Given the description of an element on the screen output the (x, y) to click on. 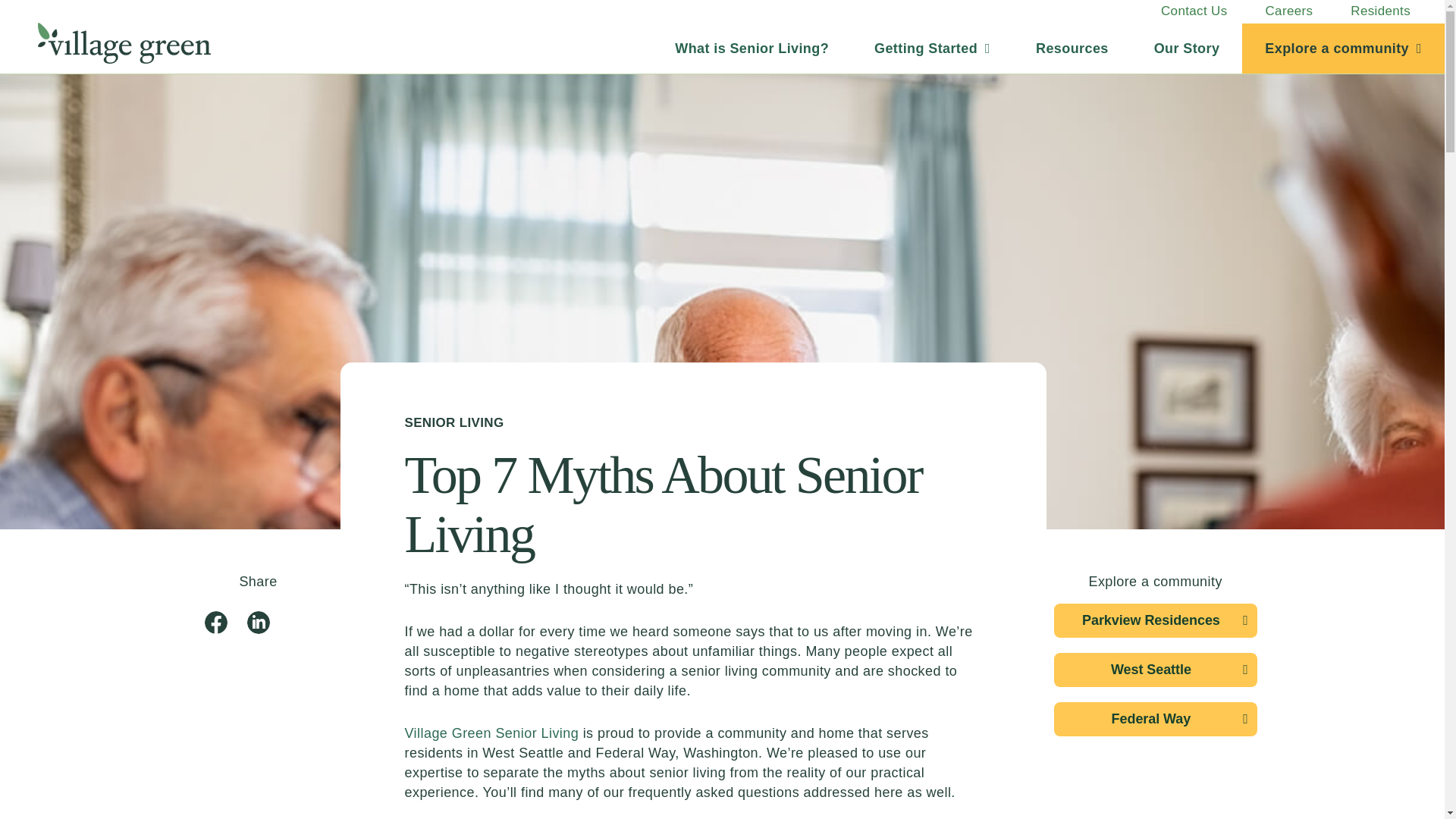
Village Green Senior Living (133, 47)
What is Senior Living? (751, 48)
Contact Us (1193, 11)
Resources (1072, 48)
Village Green Senior Living Options (751, 48)
Village Green Senior Living Information (932, 48)
Our Story (1187, 48)
Careers (1289, 11)
Contact Village Green Senior Living (1193, 11)
Getting Started (932, 48)
About Village Green Senior Living (1187, 48)
Village Green Senior Living Careers (1289, 11)
Village Green Senior Living Resources (1072, 48)
Village Green Senior Living Resident Portal (1380, 11)
Residents (1380, 11)
